Given the description of an element on the screen output the (x, y) to click on. 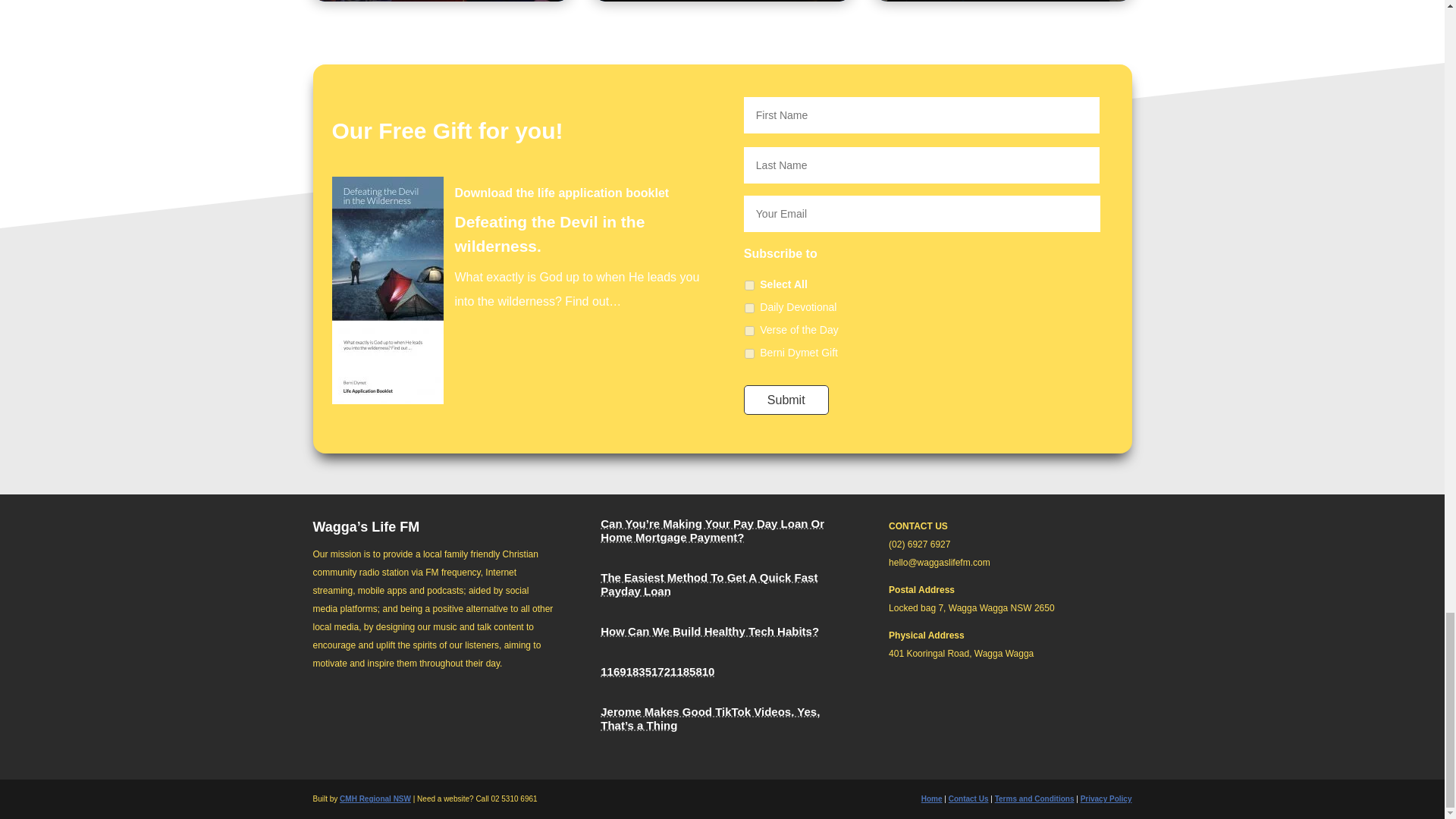
Verse of the Day (749, 330)
Submit (786, 399)
on (749, 285)
Berni Dymet Gift (749, 353)
Daily Devotional (749, 307)
